Given the description of an element on the screen output the (x, y) to click on. 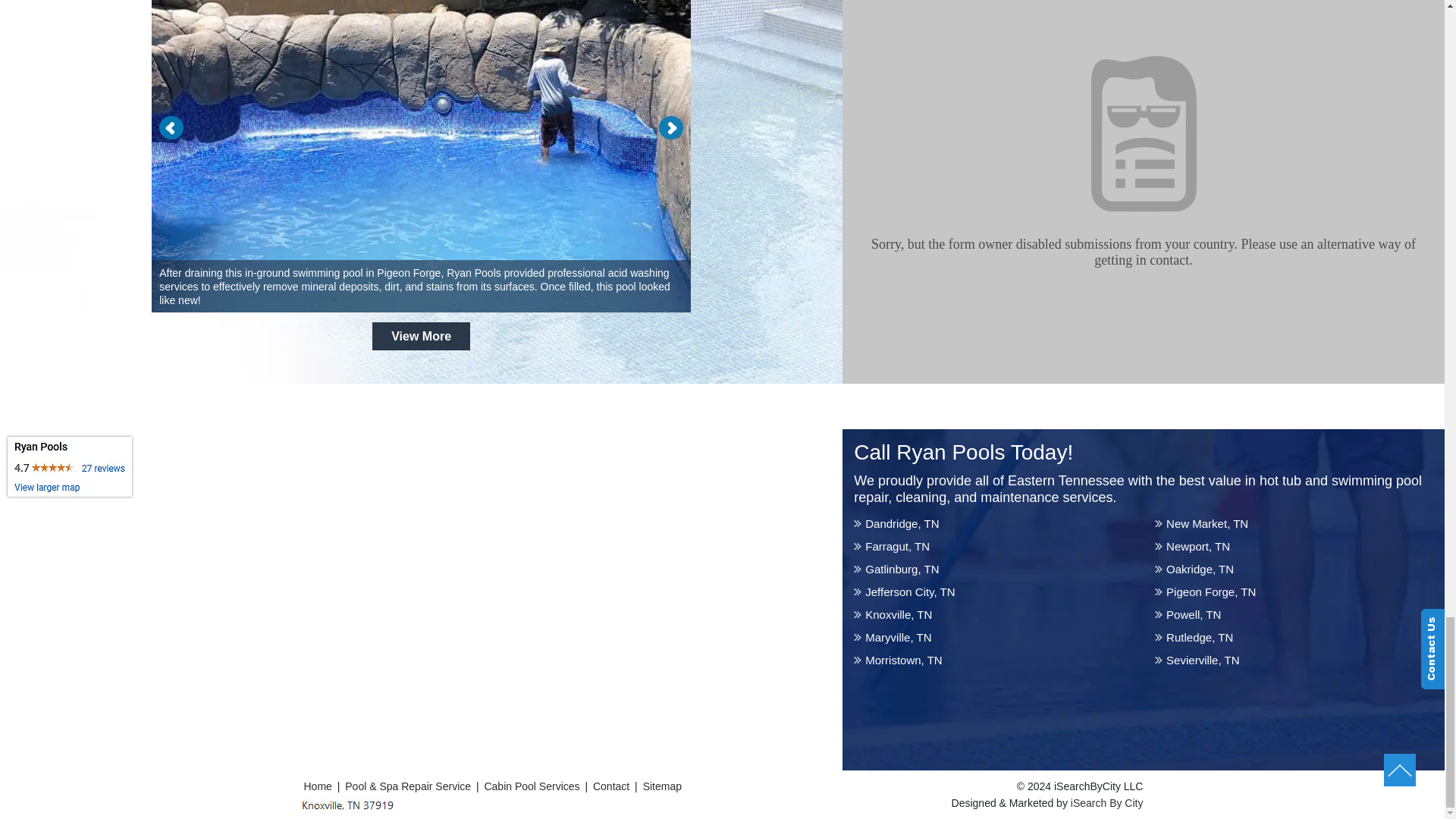
Visit Us (347, 804)
